Given the description of an element on the screen output the (x, y) to click on. 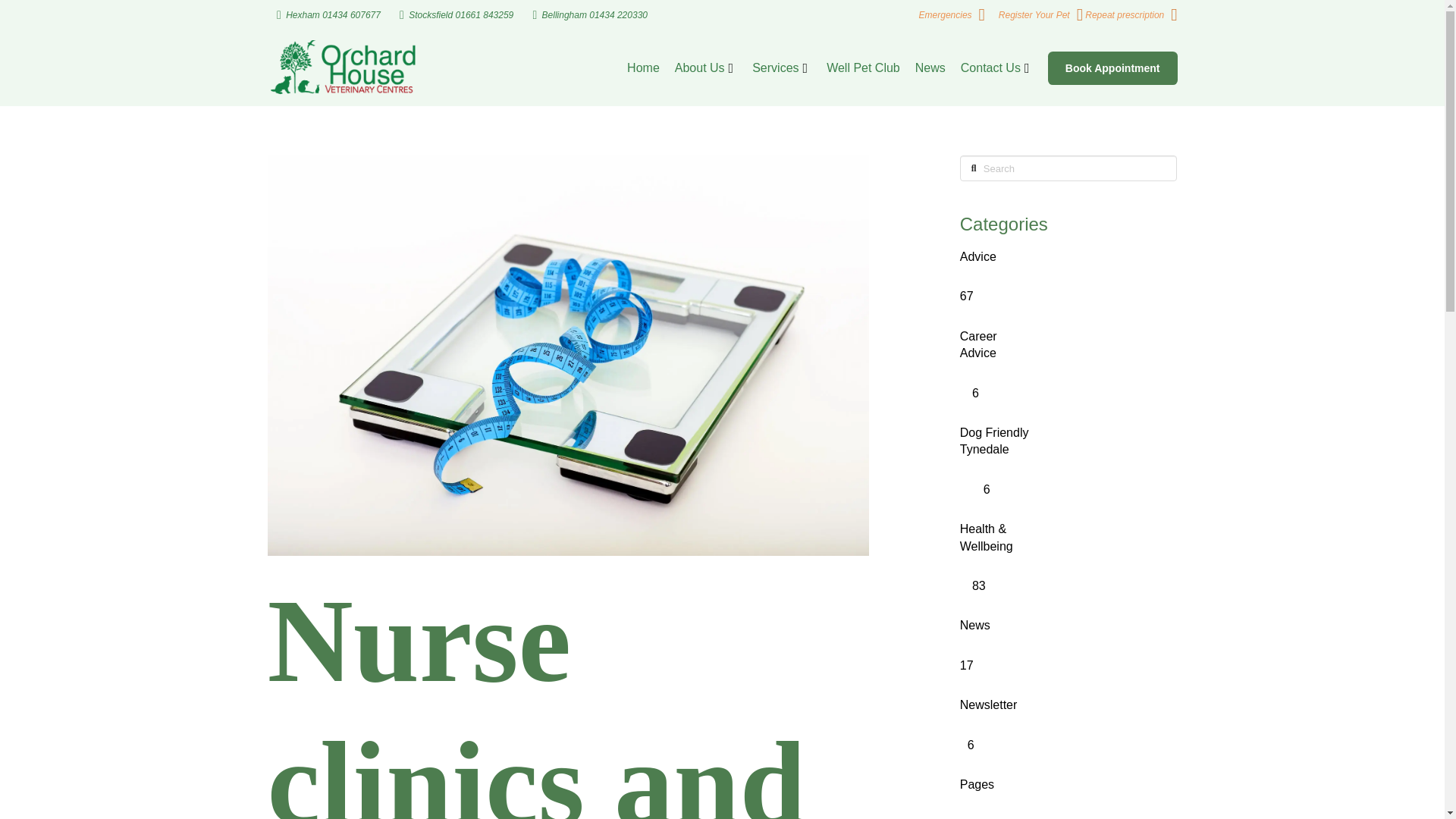
Stocksfield 01661 843259 (455, 15)
Bellingham 01434 220330 (589, 15)
 Repeat prescription (1130, 15)
Hexham 01434 607677 (328, 15)
Register Your Pet (1040, 15)
Emergencies (951, 15)
About Us (705, 68)
